Given the description of an element on the screen output the (x, y) to click on. 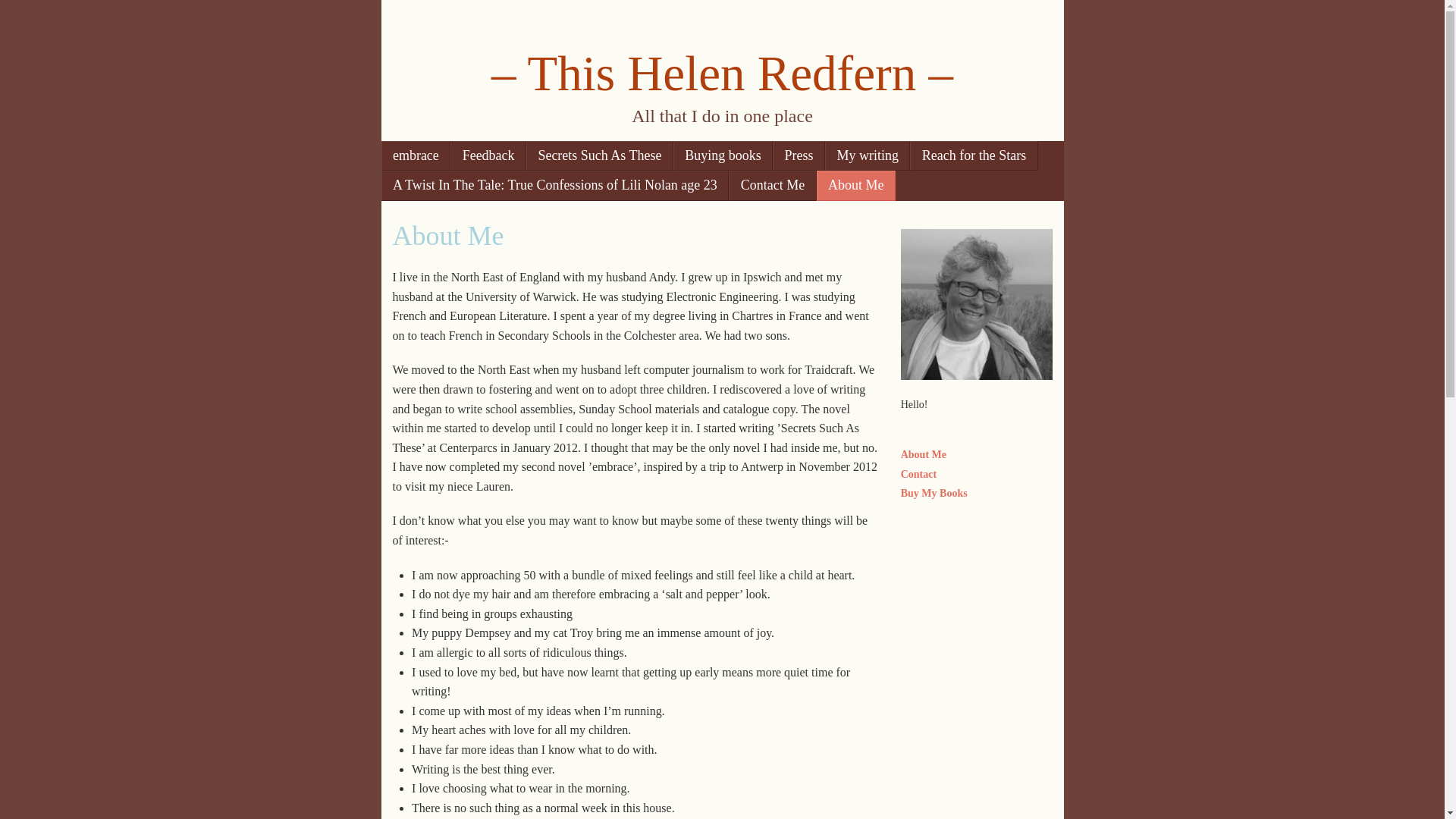
Buy My Books (934, 492)
Reach for the Stars (973, 155)
Feedback (487, 155)
My writing (867, 155)
About Me (923, 454)
Press (799, 155)
Skip to content (433, 155)
embrace (414, 155)
A Twist In The Tale: True Confessions of Lili Nolan age 23 (554, 184)
Contact Me (772, 184)
